Given the description of an element on the screen output the (x, y) to click on. 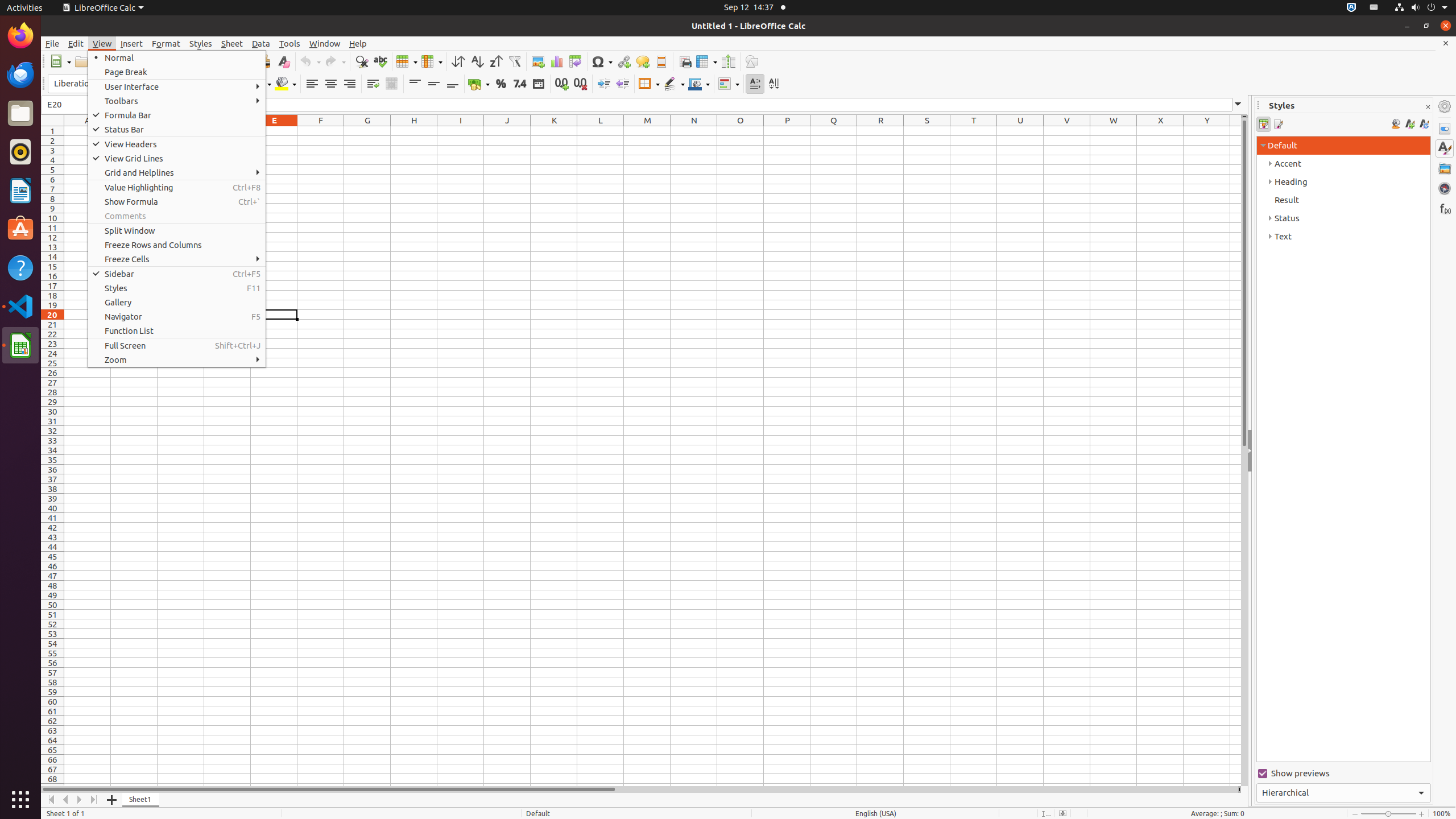
O1 Element type: table-cell (740, 130)
Align Left Element type: push-button (311, 83)
Rhythmbox Element type: push-button (20, 151)
Background Color Element type: push-button (285, 83)
Spelling Element type: push-button (379, 61)
